Given the description of an element on the screen output the (x, y) to click on. 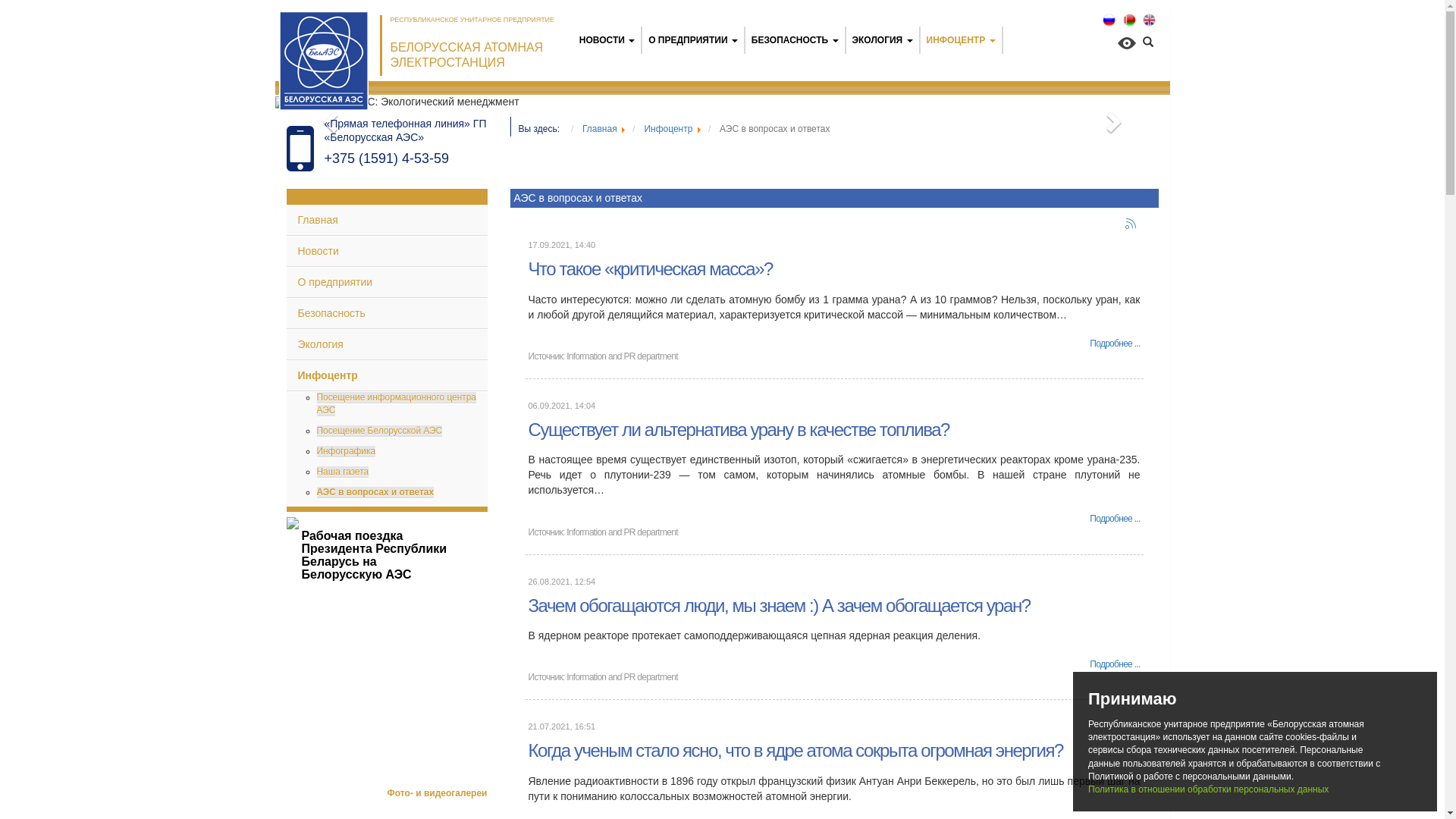
+375 (1591) 4-53-59 Element type: text (386, 158)
Information and PR department Element type: text (621, 356)
Information and PR department Element type: text (621, 532)
Information and PR department Element type: text (621, 676)
English (UK) Element type: hover (1148, 19)
